Given the description of an element on the screen output the (x, y) to click on. 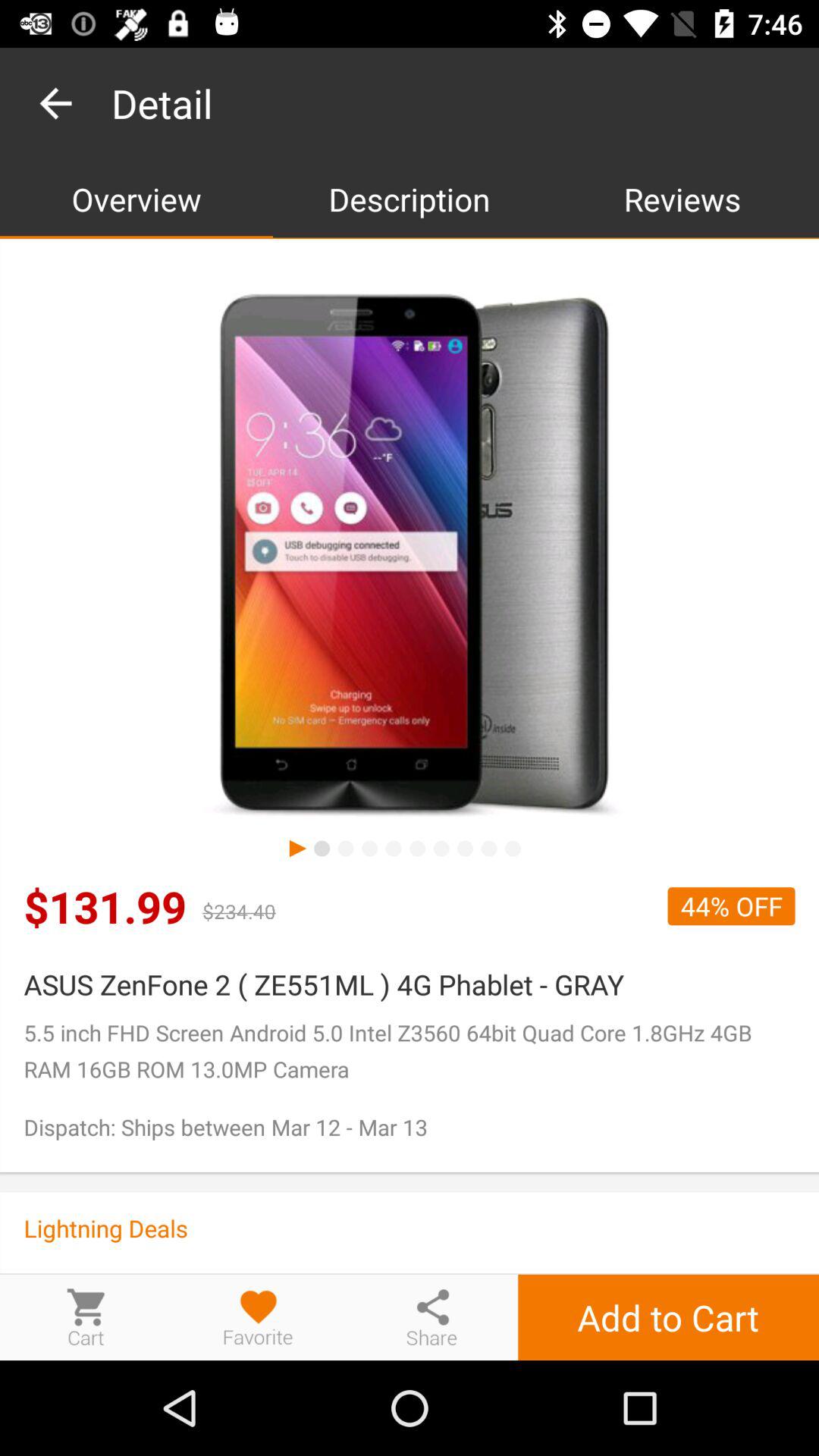
share the product (431, 1317)
